Given the description of an element on the screen output the (x, y) to click on. 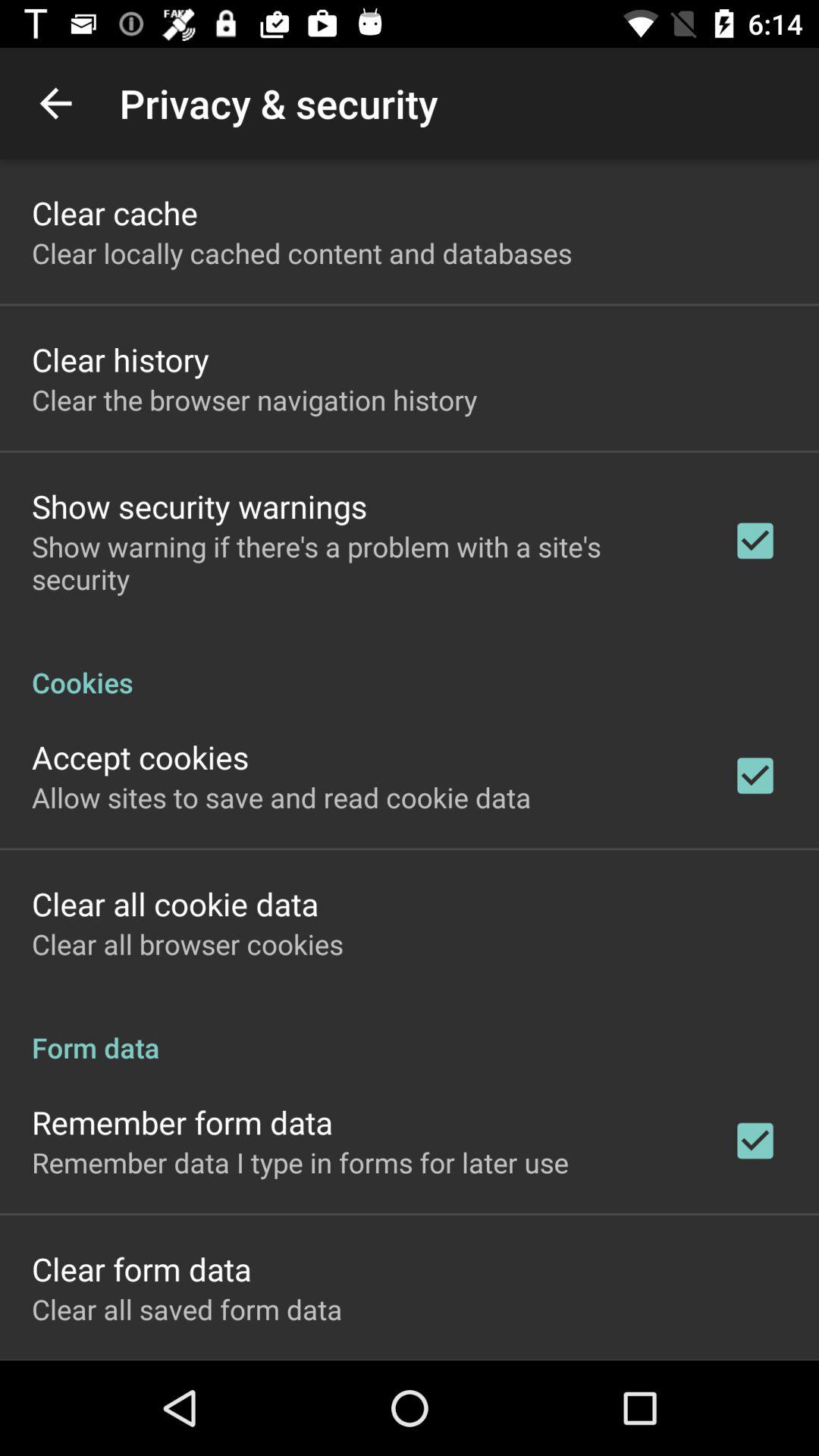
open the app above cookies icon (361, 562)
